Given the description of an element on the screen output the (x, y) to click on. 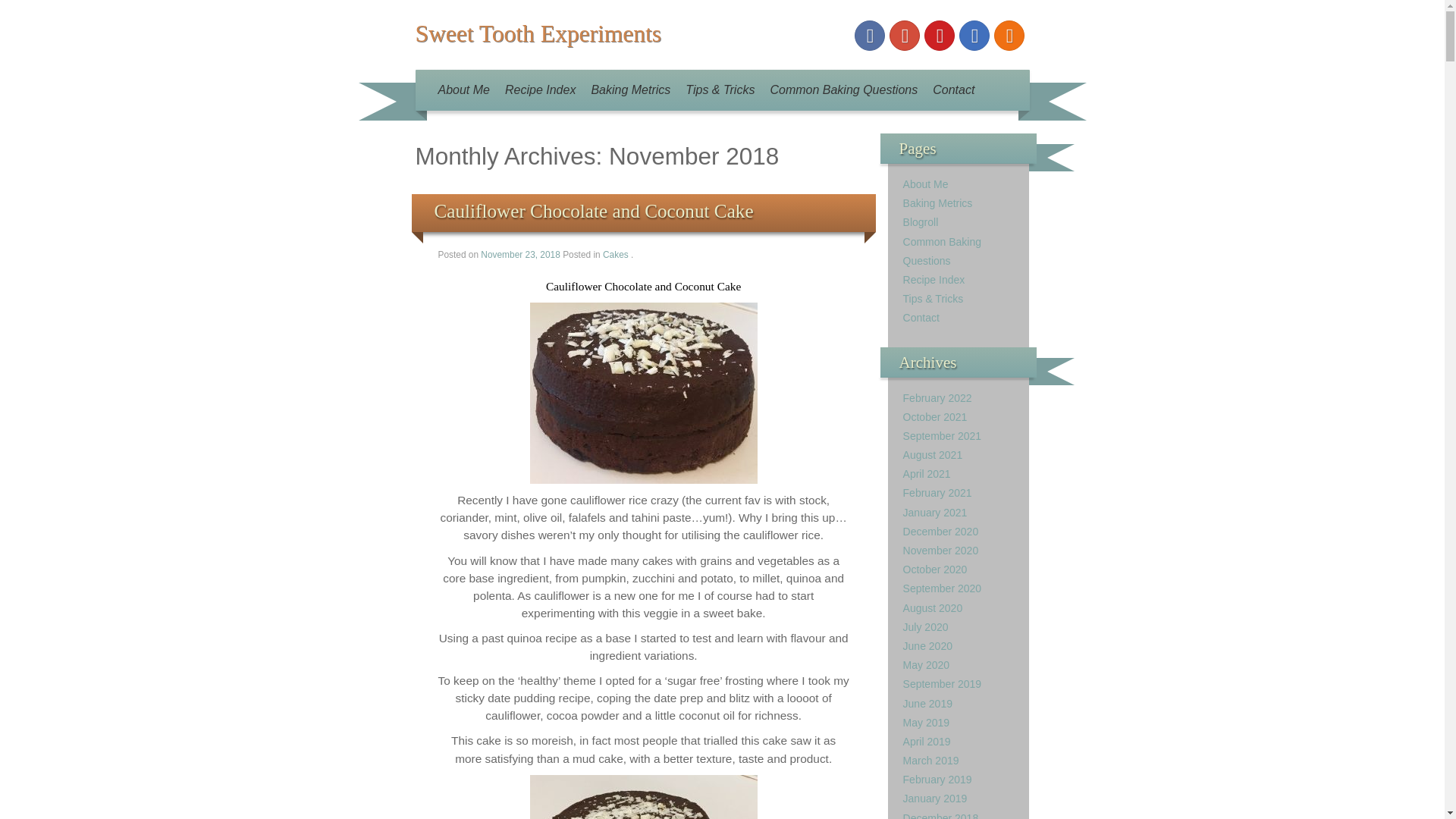
Cauliflower Chocolate and Coconut Cake (592, 210)
Sweet Tooth Experiments (537, 33)
6:06 pm (521, 254)
Permalink to Cauliflower Chocolate and Coconut Cake (592, 210)
Cakes (615, 254)
Common Baking Questions (842, 89)
Recipe Index (540, 89)
Sweet Tooth Experiments Pinterest (939, 35)
Sweet Tooth Experiments Email (974, 35)
November 23, 2018 (521, 254)
